Given the description of an element on the screen output the (x, y) to click on. 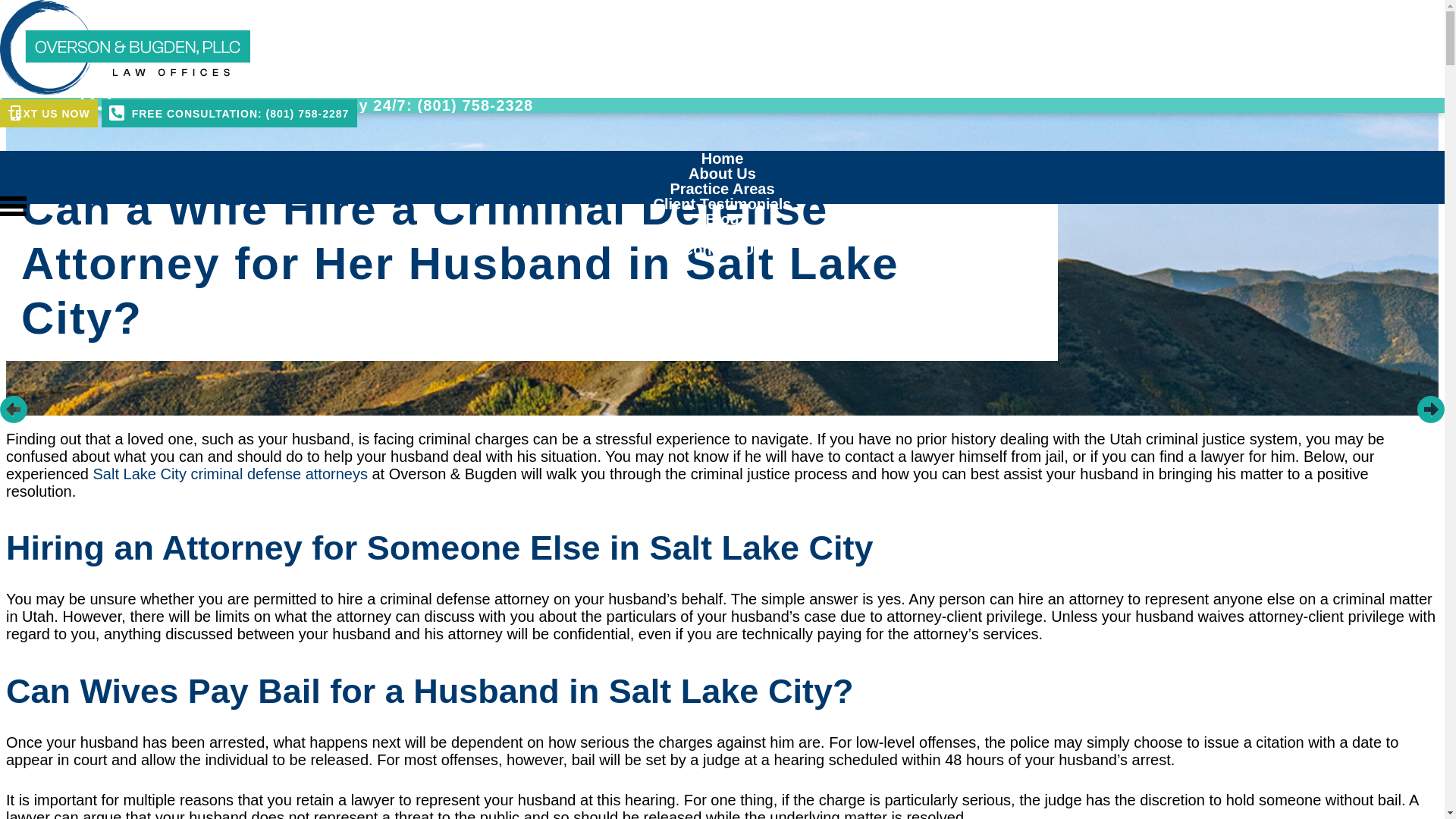
Practice Areas (721, 188)
Home (722, 158)
About Us (721, 173)
